Given the description of an element on the screen output the (x, y) to click on. 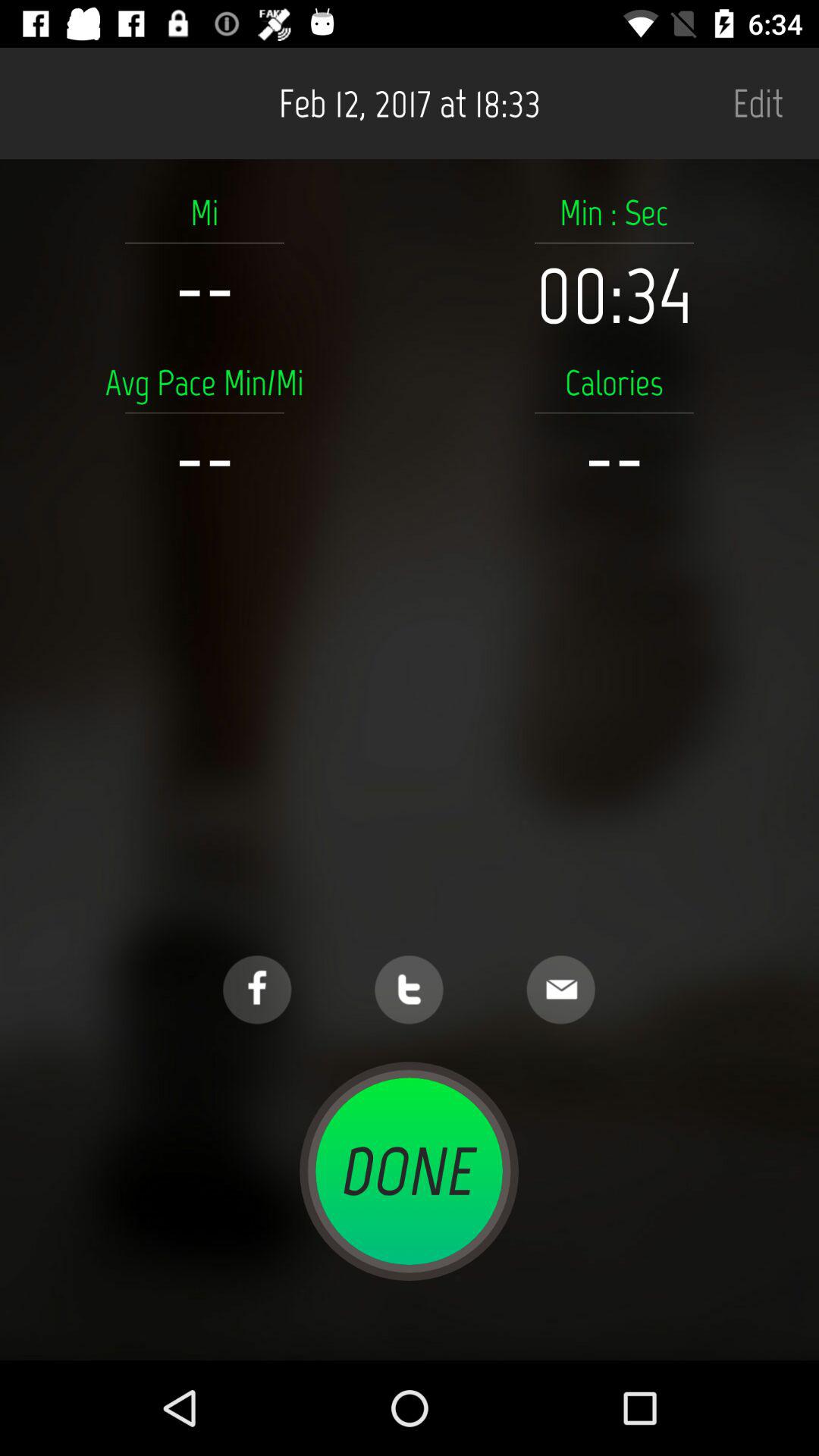
share data (560, 989)
